Given the description of an element on the screen output the (x, y) to click on. 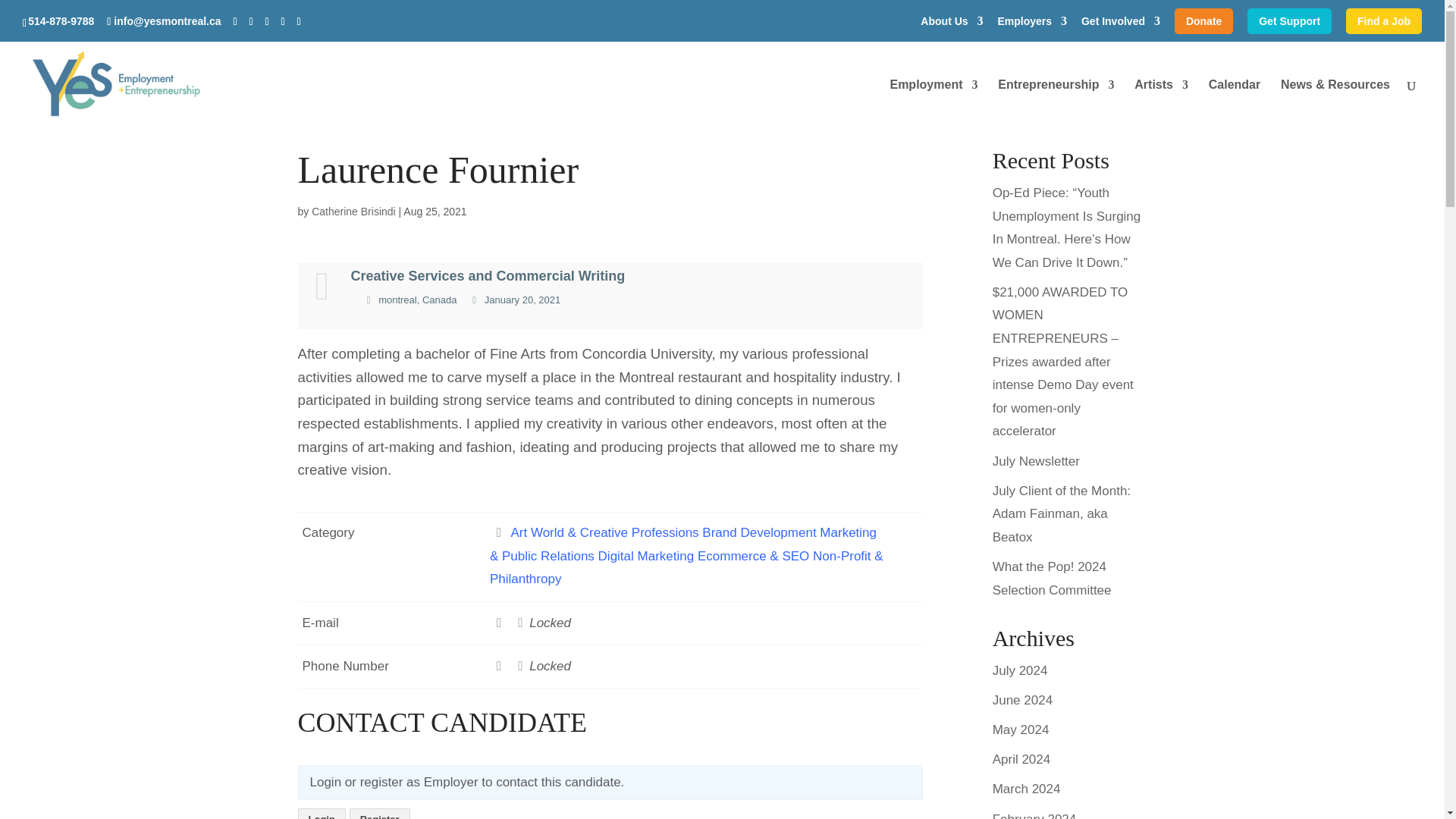
Donate (1203, 20)
Get Support (1289, 20)
Find a Job (1383, 20)
Get Involved (1120, 24)
Posts by Catherine Brisindi (353, 211)
About Us (951, 24)
Employers (1032, 24)
Employment (932, 103)
